Given the description of an element on the screen output the (x, y) to click on. 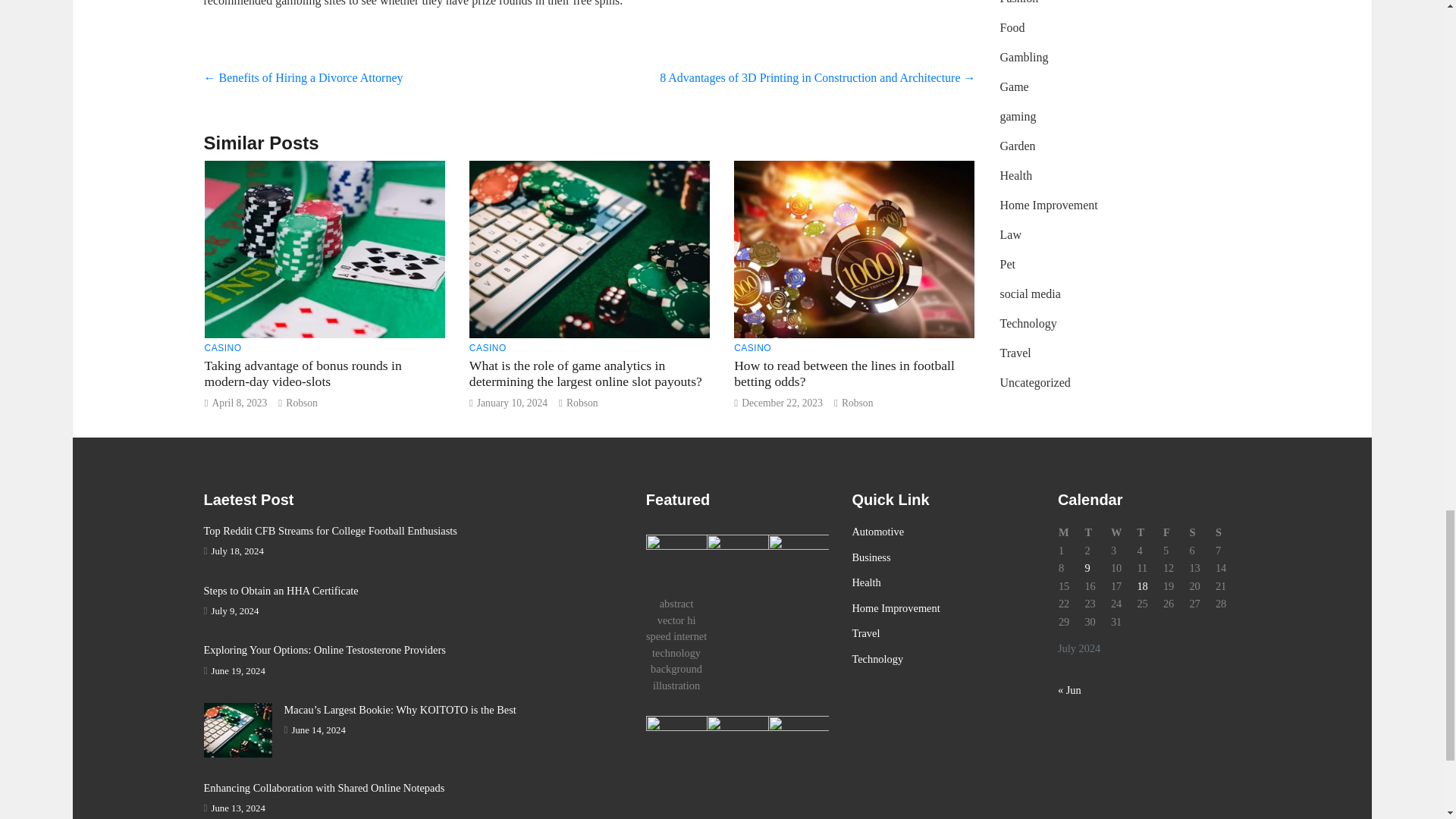
Robson (857, 402)
Robson (301, 402)
CASINO (752, 347)
Monday (1071, 533)
Saturday (1201, 533)
April 8, 2023 (238, 402)
Friday (1175, 533)
January 10, 2024 (512, 402)
How to read between the lines in football betting odds? (844, 373)
Sunday (1227, 533)
Tuesday (1096, 533)
CASINO (487, 347)
Robson (582, 402)
December 22, 2023 (781, 402)
CASINO (223, 347)
